Given the description of an element on the screen output the (x, y) to click on. 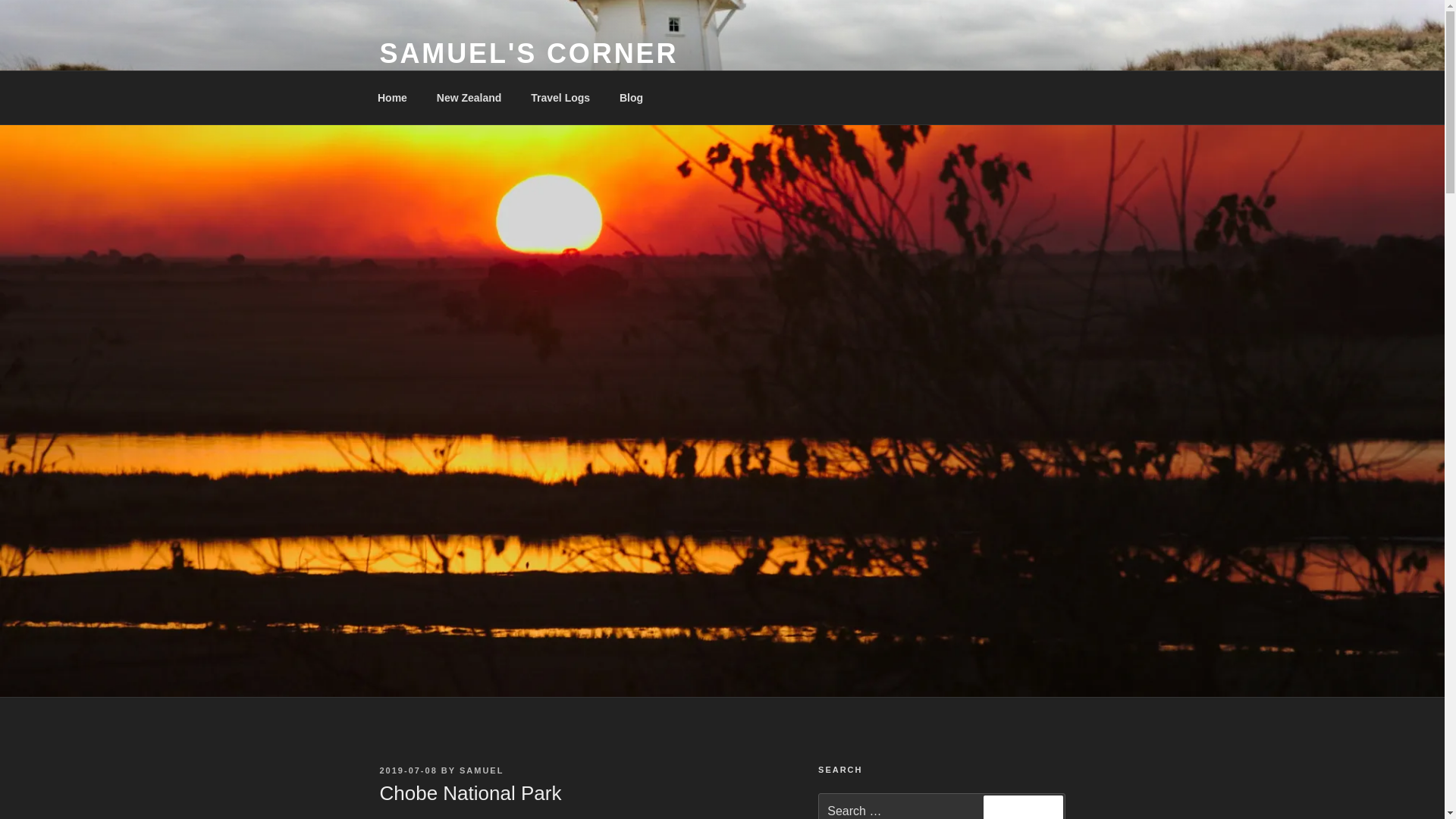
SAMUEL (481, 769)
2019-07-08 (407, 769)
SAMUEL'S CORNER (528, 52)
New Zealand (469, 97)
Travel Logs (561, 97)
Search (1023, 807)
Blog (630, 97)
Home (392, 97)
